Given the description of an element on the screen output the (x, y) to click on. 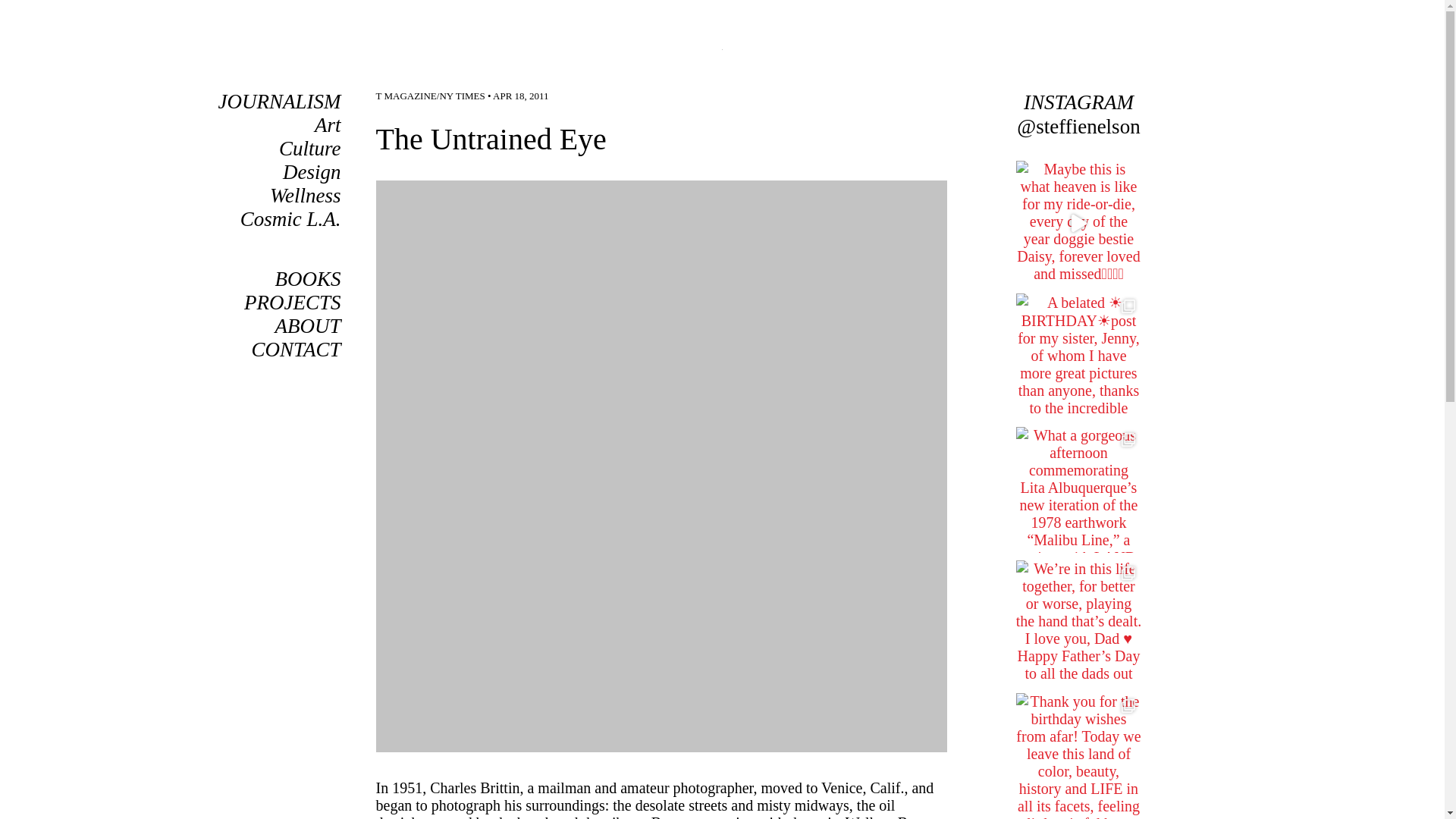
Cosmic L.A. (290, 219)
Wellness (304, 195)
JOURNALISM (279, 101)
CONTACT (295, 349)
Design (311, 171)
Art (327, 124)
BOOKS (307, 278)
PROJECTS (292, 302)
Culture (309, 148)
ABOUT (307, 325)
